Given the description of an element on the screen output the (x, y) to click on. 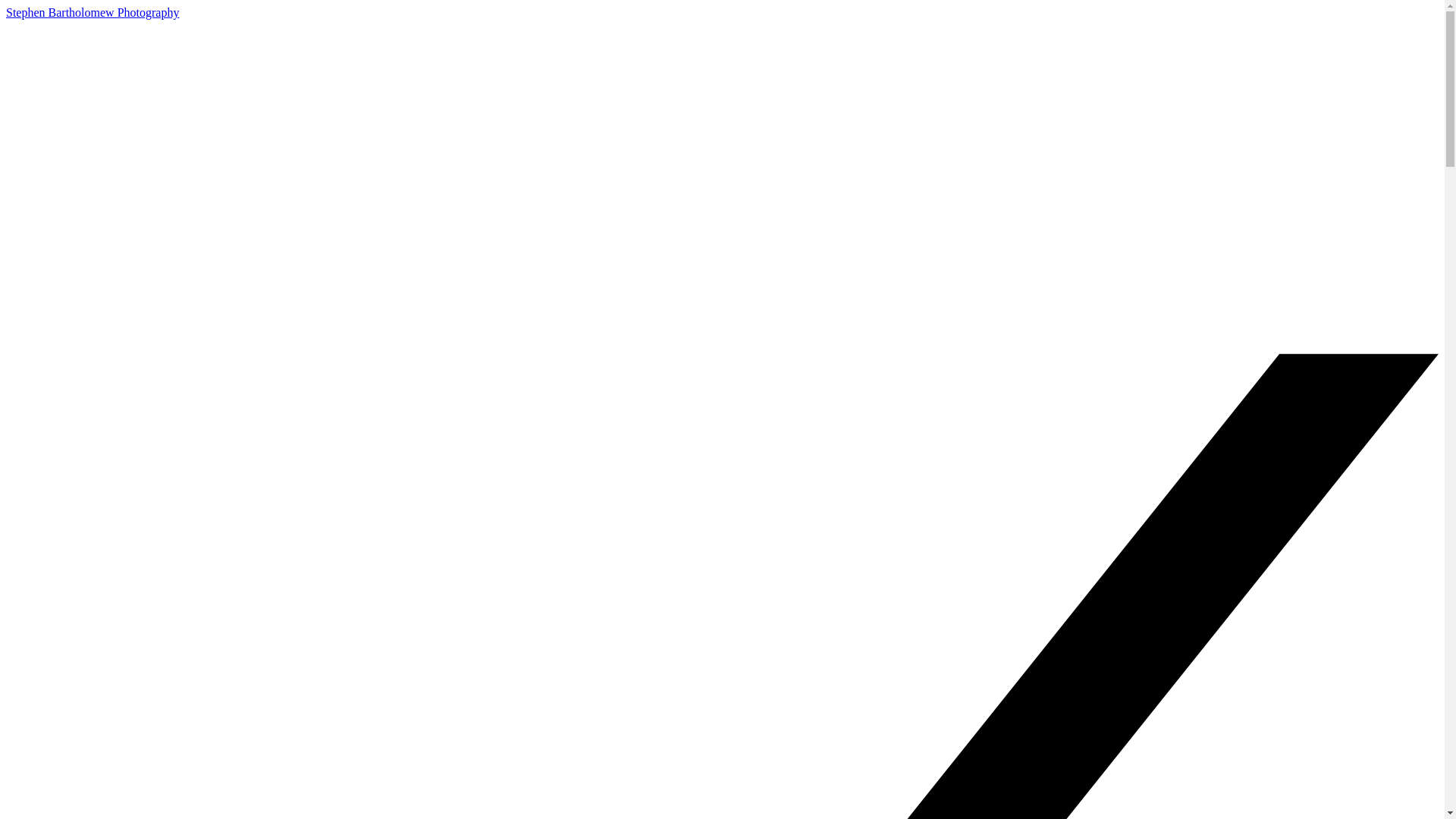
Stephen Bartholomew Photography (92, 11)
